Given the description of an element on the screen output the (x, y) to click on. 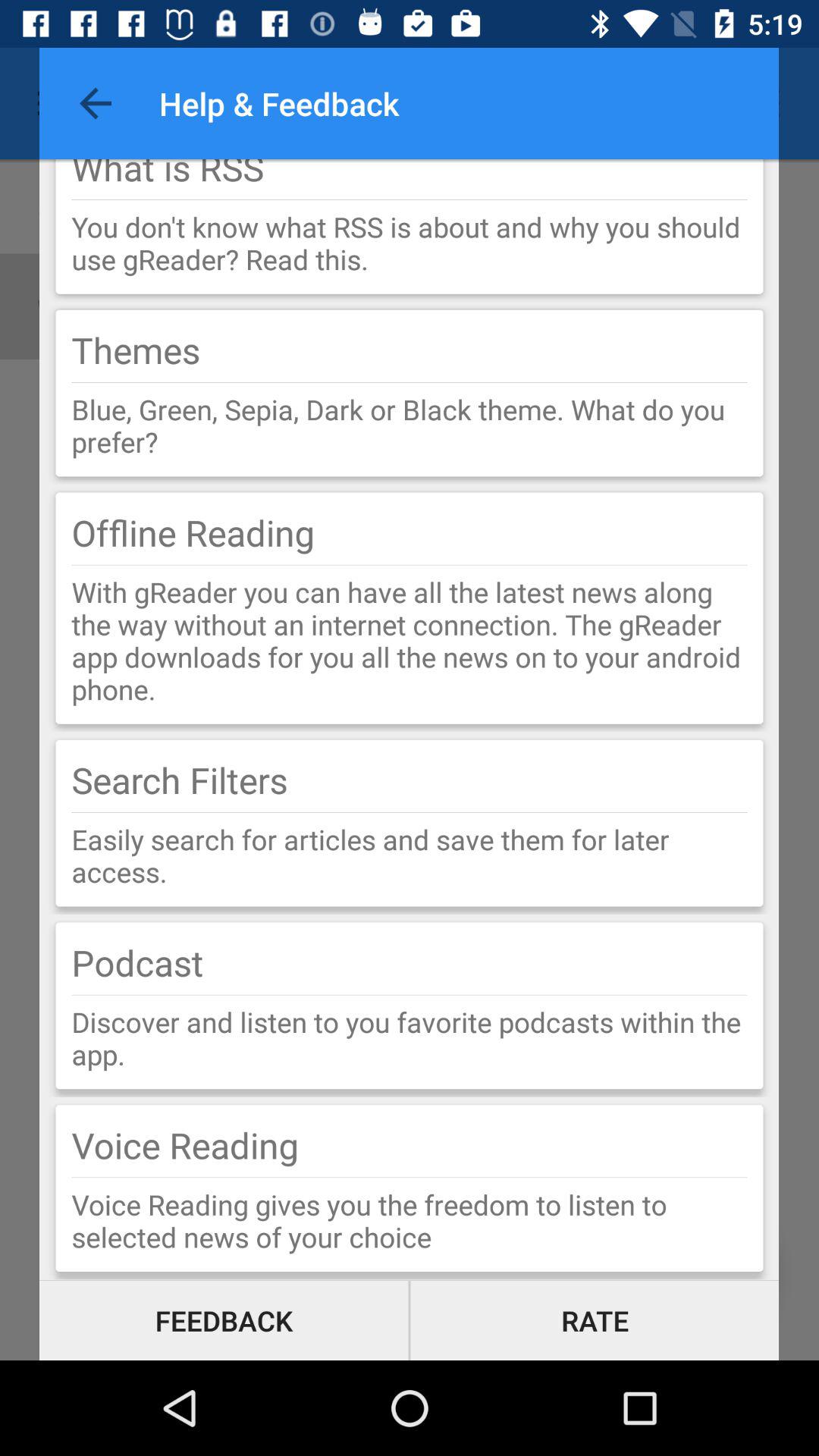
turn off the item below voice reading item (409, 1177)
